Given the description of an element on the screen output the (x, y) to click on. 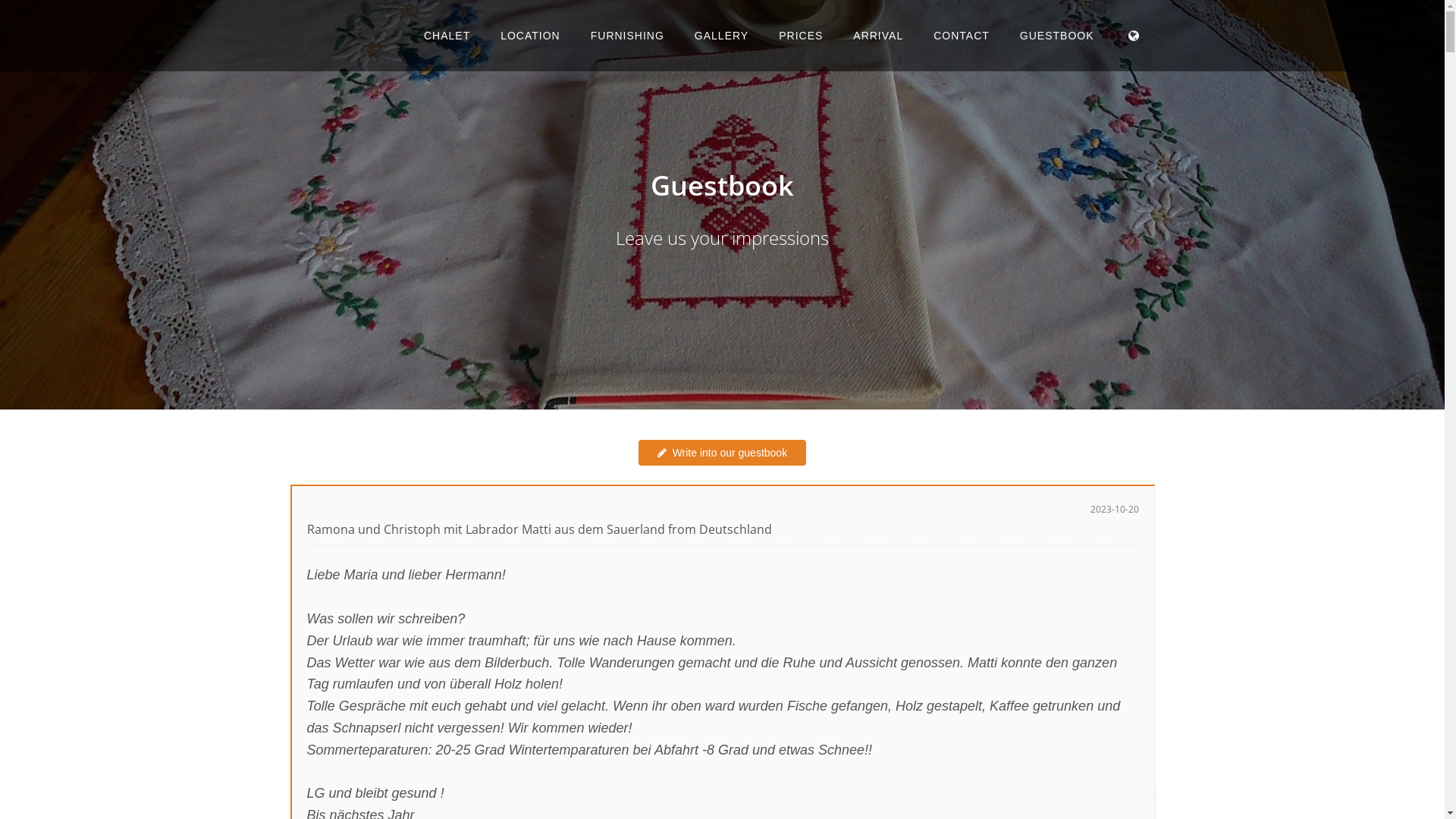
GALLERY Element type: text (721, 35)
PRICES Element type: text (800, 35)
     Write into our guestbook    Element type: text (722, 452)
LOCATION Element type: text (530, 35)
ARRIVAL Element type: text (877, 35)
CONTACT Element type: text (961, 35)
FURNISHING Element type: text (627, 35)
CHALET Element type: text (446, 35)
GUESTBOOK Element type: text (1056, 35)
